Given the description of an element on the screen output the (x, y) to click on. 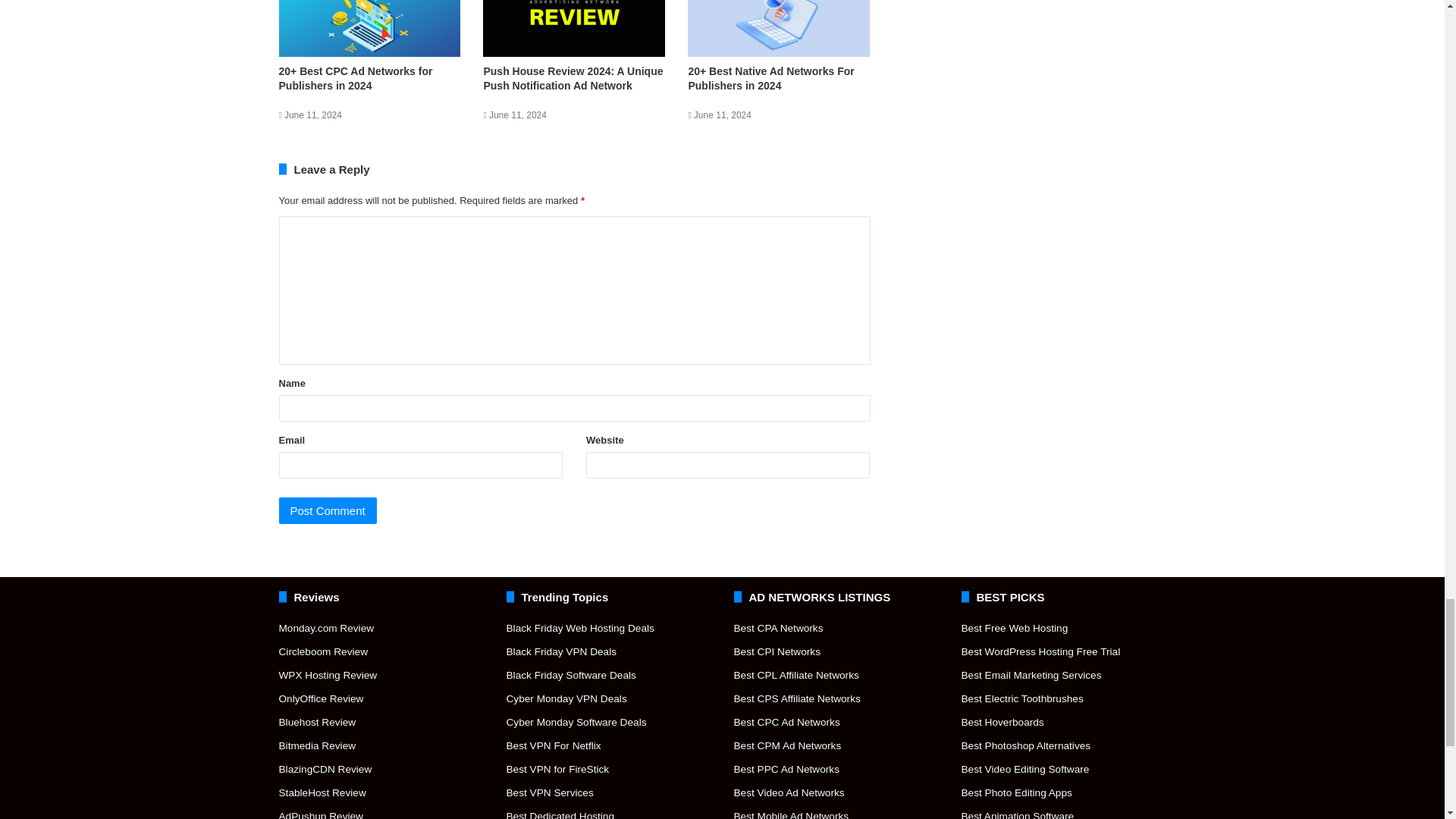
Post Comment (328, 510)
